Given the description of an element on the screen output the (x, y) to click on. 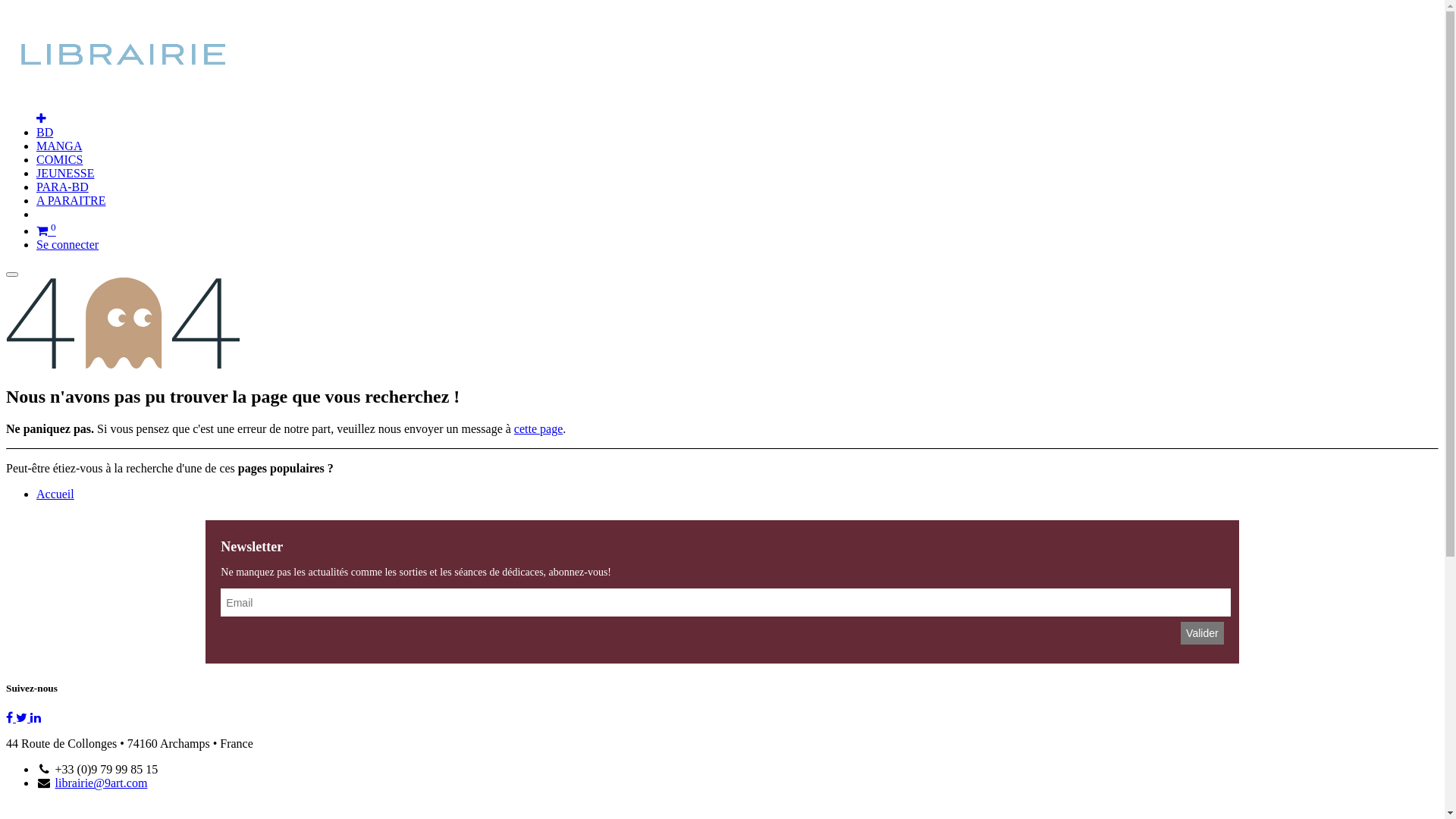
0 Element type: text (46, 230)
Valider Element type: text (1201, 632)
cette page Element type: text (538, 428)
Se connecter Element type: text (67, 244)
librairie@9art.com Element type: text (101, 782)
BD Element type: text (44, 131)
9art Element type: hover (199, 92)
JEUNESSE Element type: text (65, 172)
Accueil Element type: text (55, 493)
A PARAITRE Element type: text (70, 200)
PARA-BD Element type: text (62, 186)
MANGA Element type: text (58, 145)
COMICS Element type: text (59, 159)
